Given the description of an element on the screen output the (x, y) to click on. 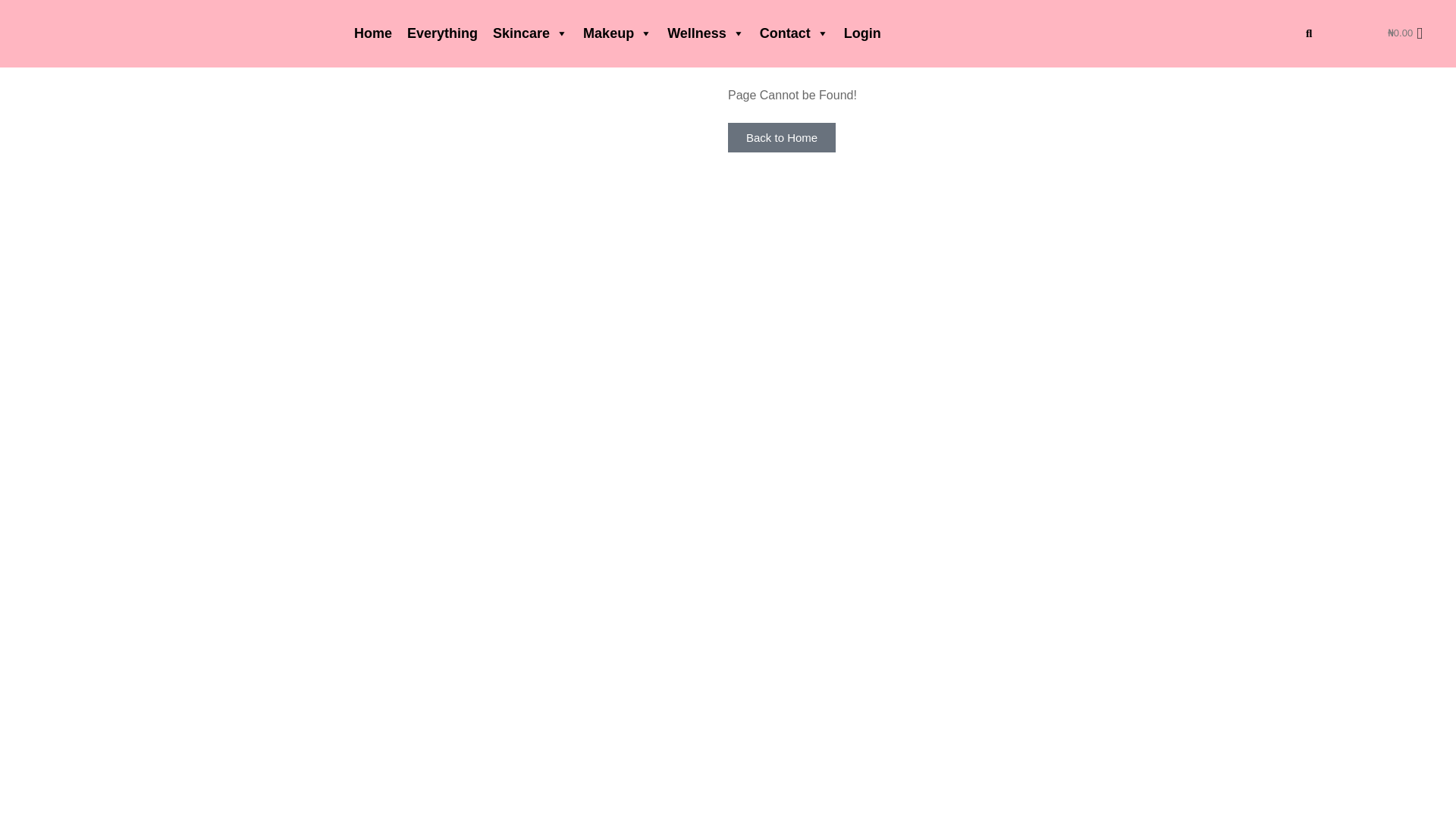
Home (372, 33)
Wellness (705, 33)
Everything (441, 33)
Skincare (529, 33)
Makeup (617, 33)
